Given the description of an element on the screen output the (x, y) to click on. 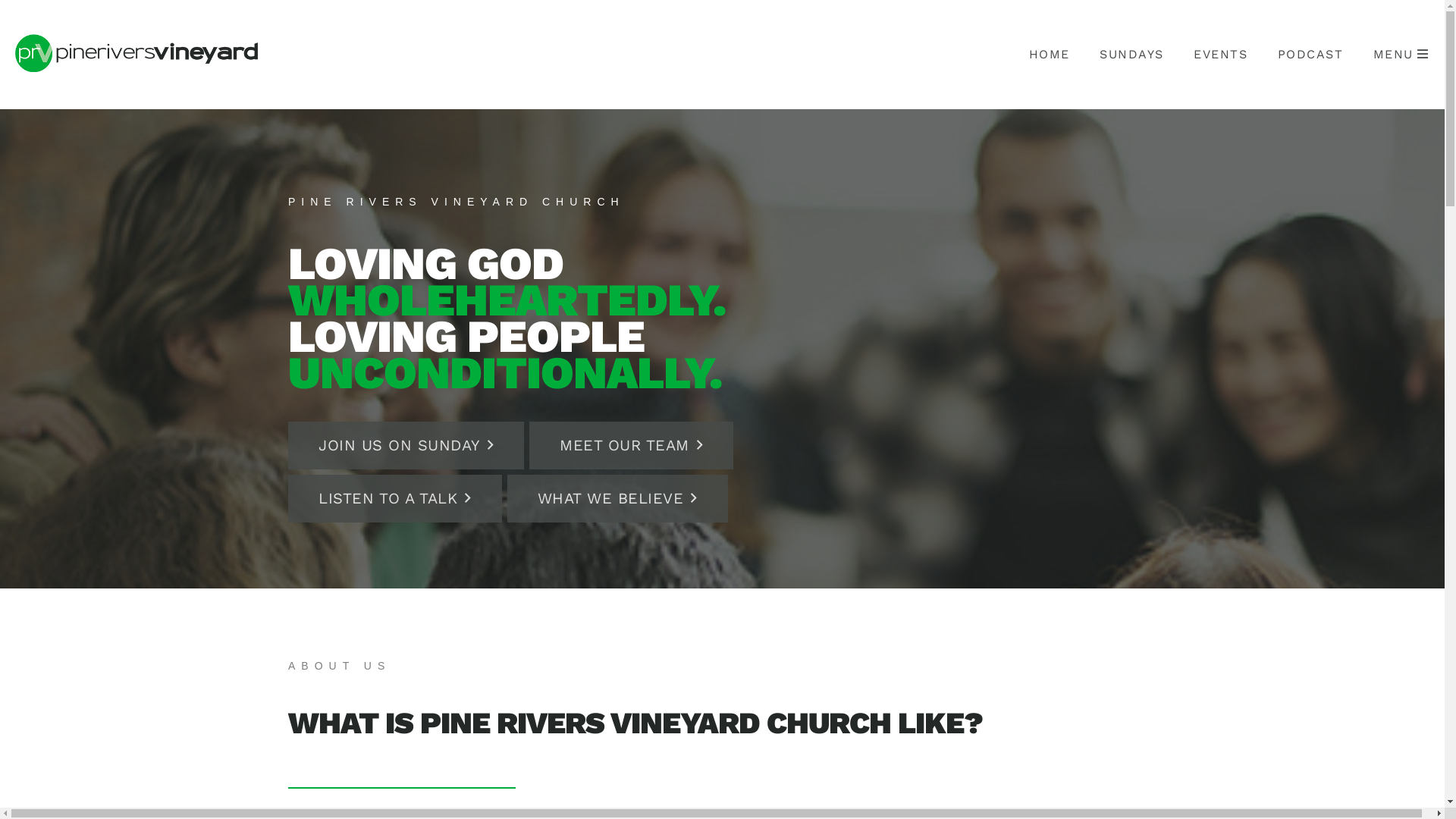
SUNDAYS Element type: text (1131, 54)
MENU Element type: text (1400, 54)
PODCAST Element type: text (1309, 54)
JOIN US ON SUNDAY Element type: text (406, 445)
HOME Element type: text (1048, 54)
LISTEN TO A TALK Element type: text (395, 498)
EVENTS Element type: text (1220, 54)
MEET OUR TEAM Element type: text (631, 445)
WHAT WE BELIEVE Element type: text (616, 498)
